Given the description of an element on the screen output the (x, y) to click on. 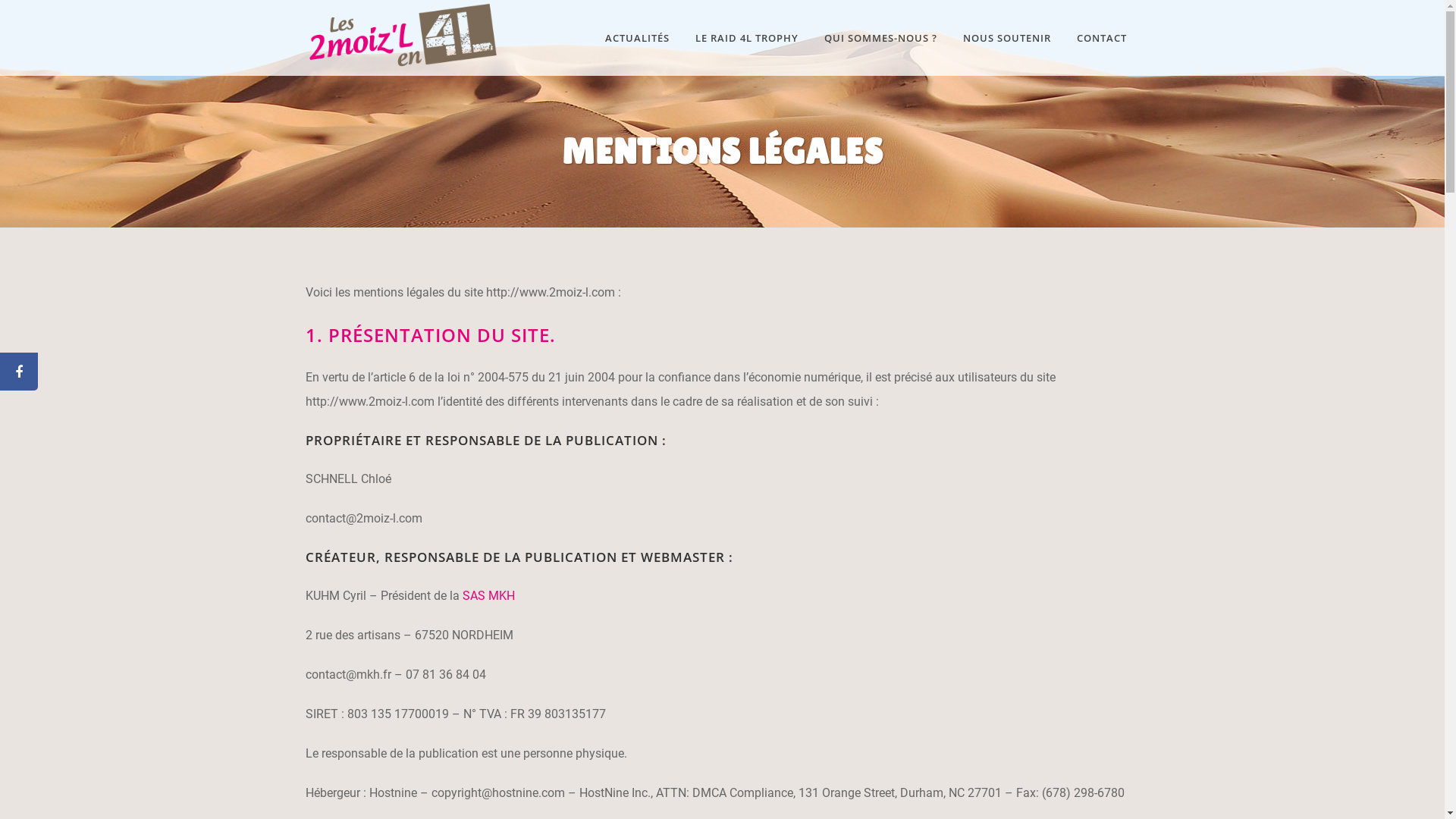
SAS MKH Element type: text (488, 595)
LE RAID 4L TROPHY Element type: text (746, 37)
CONTACT Element type: text (1101, 37)
QUI SOMMES-NOUS ? Element type: text (880, 37)
NOUS SOUTENIR Element type: text (1006, 37)
Contact Element type: text (1009, 752)
Plan du site Element type: text (1009, 723)
Nous soutenir Element type: text (1009, 693)
Raid 4L Trophy Element type: text (1009, 663)
